Given the description of an element on the screen output the (x, y) to click on. 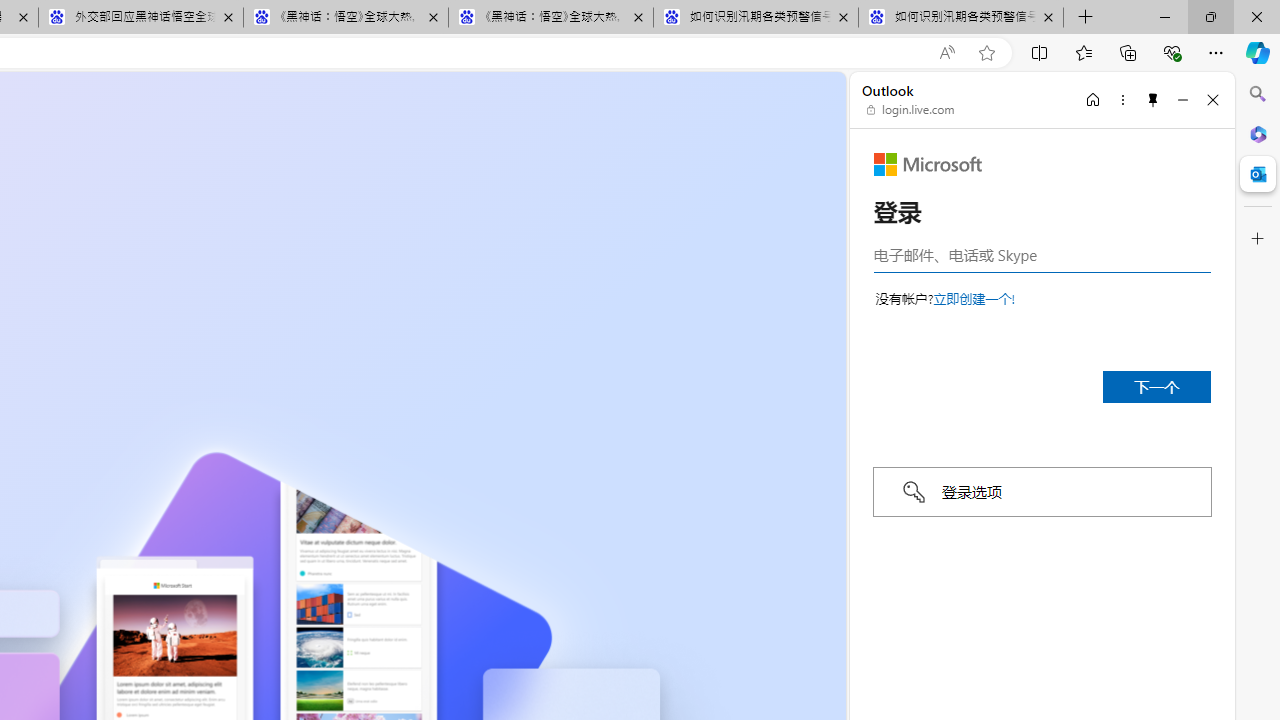
login.live.com (911, 110)
